Given the description of an element on the screen output the (x, y) to click on. 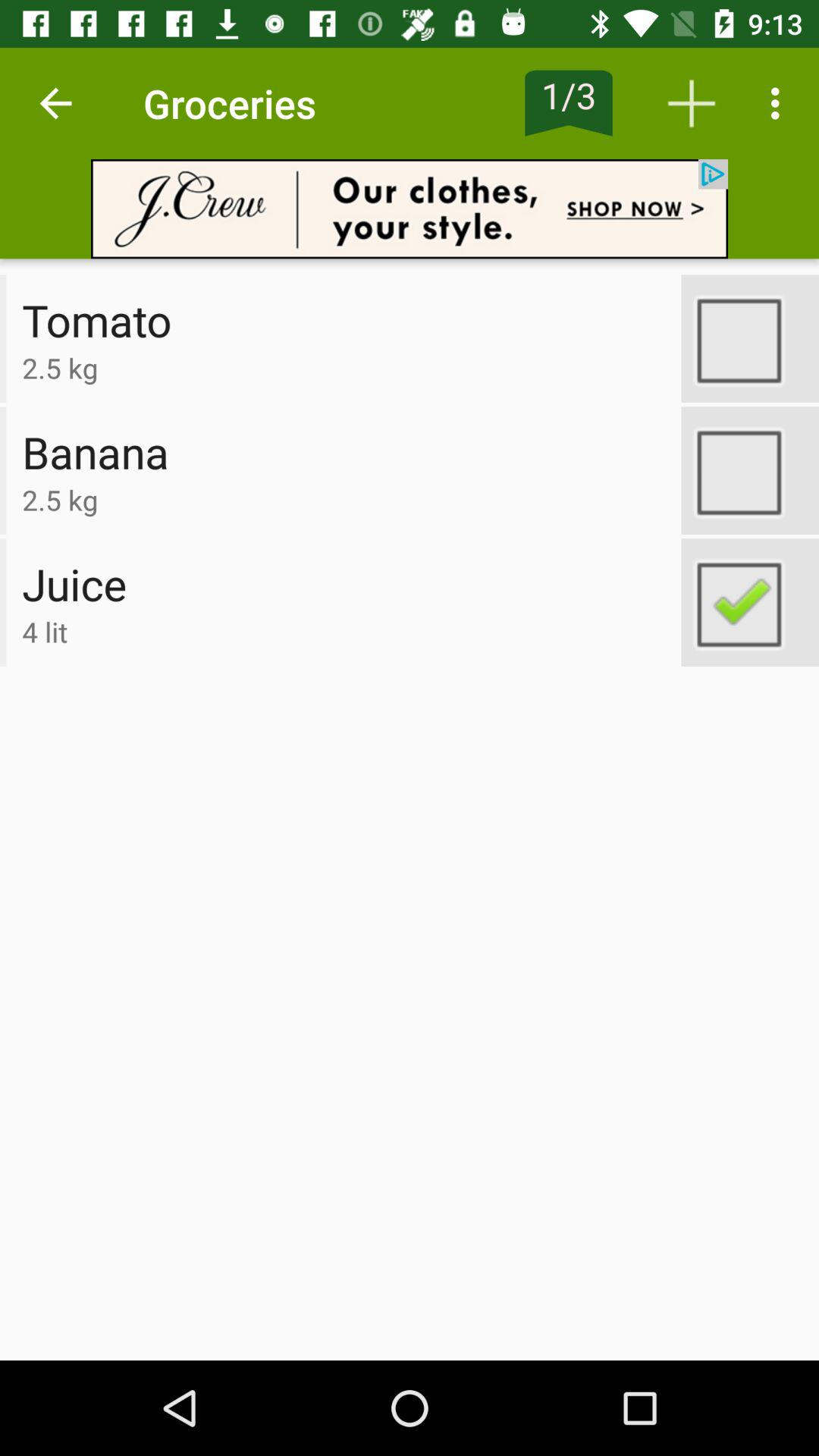
check item on list (750, 602)
